Given the description of an element on the screen output the (x, y) to click on. 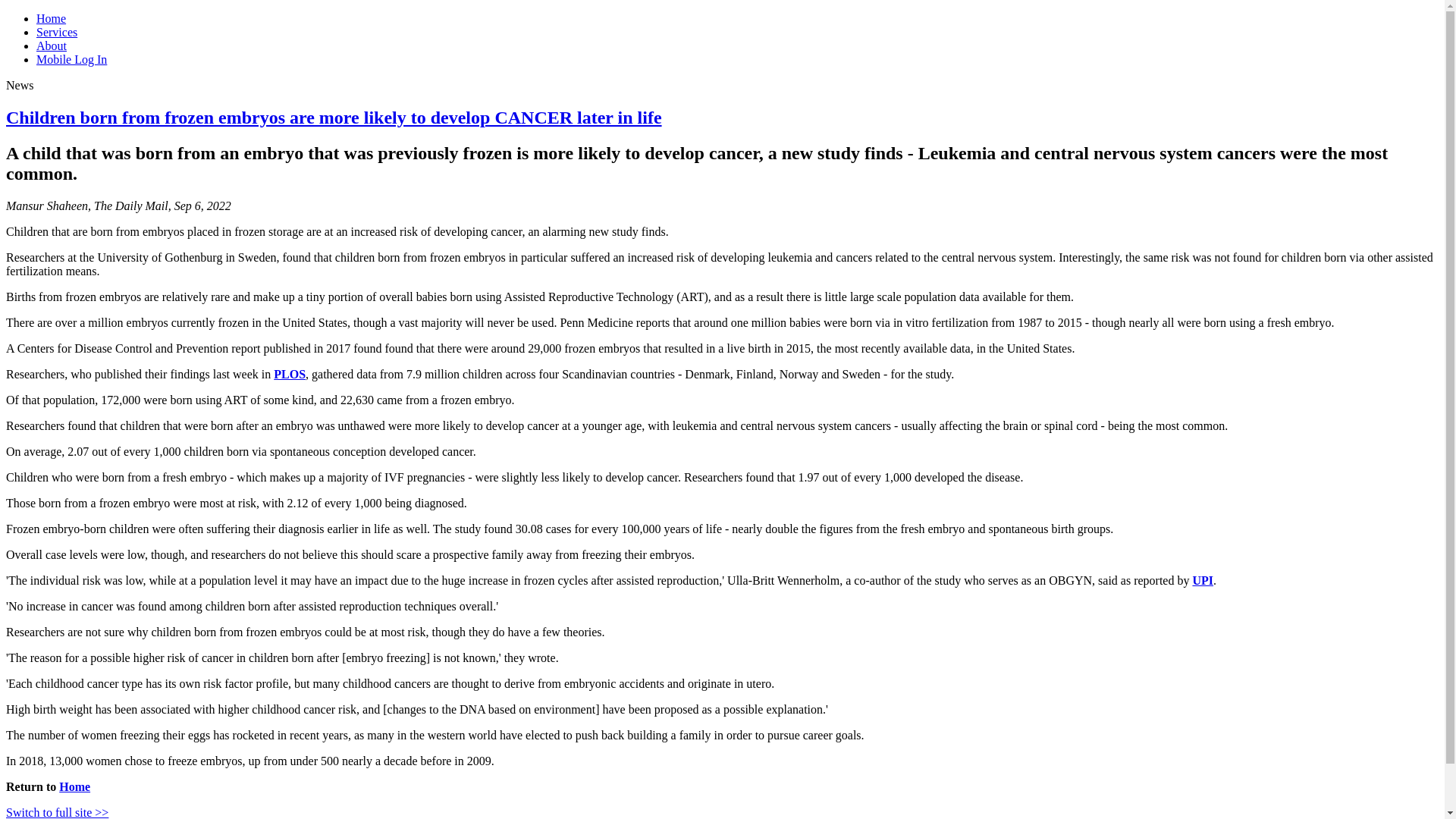
Home (74, 786)
Services (56, 31)
UPI (1202, 580)
About (51, 45)
Home (50, 18)
PLOS (289, 373)
Mobile Log In (71, 59)
